Given the description of an element on the screen output the (x, y) to click on. 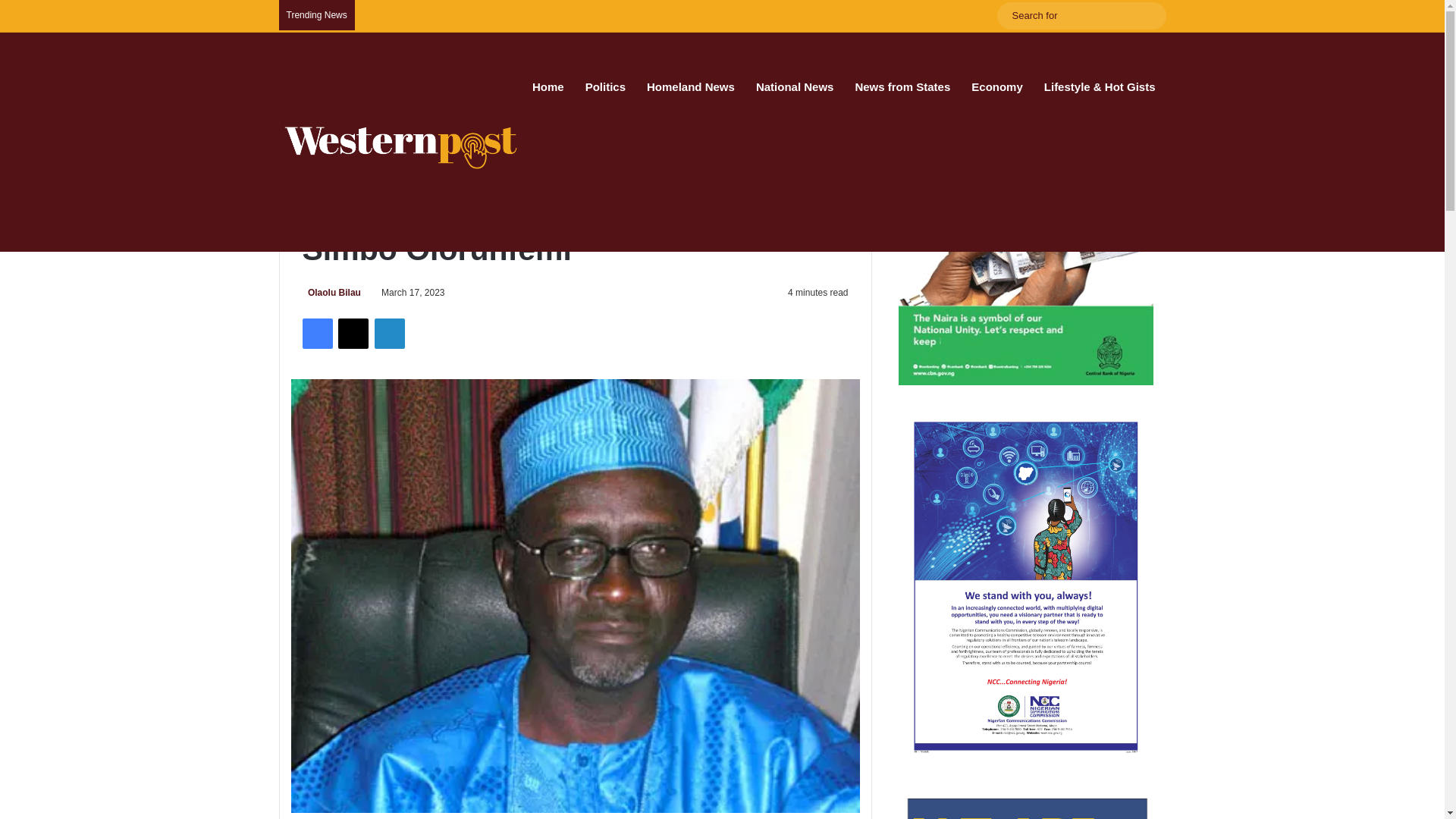
Search for (1150, 15)
Olaolu Bilau (330, 292)
News from States (902, 86)
Olaolu Bilau (330, 292)
Western Post (400, 146)
LinkedIn (389, 333)
National News (794, 86)
Search for (1080, 15)
Facebook (316, 333)
Facebook (316, 333)
X (352, 333)
LinkedIn (389, 333)
Perspectives (373, 161)
Home (317, 161)
X (352, 333)
